Given the description of an element on the screen output the (x, y) to click on. 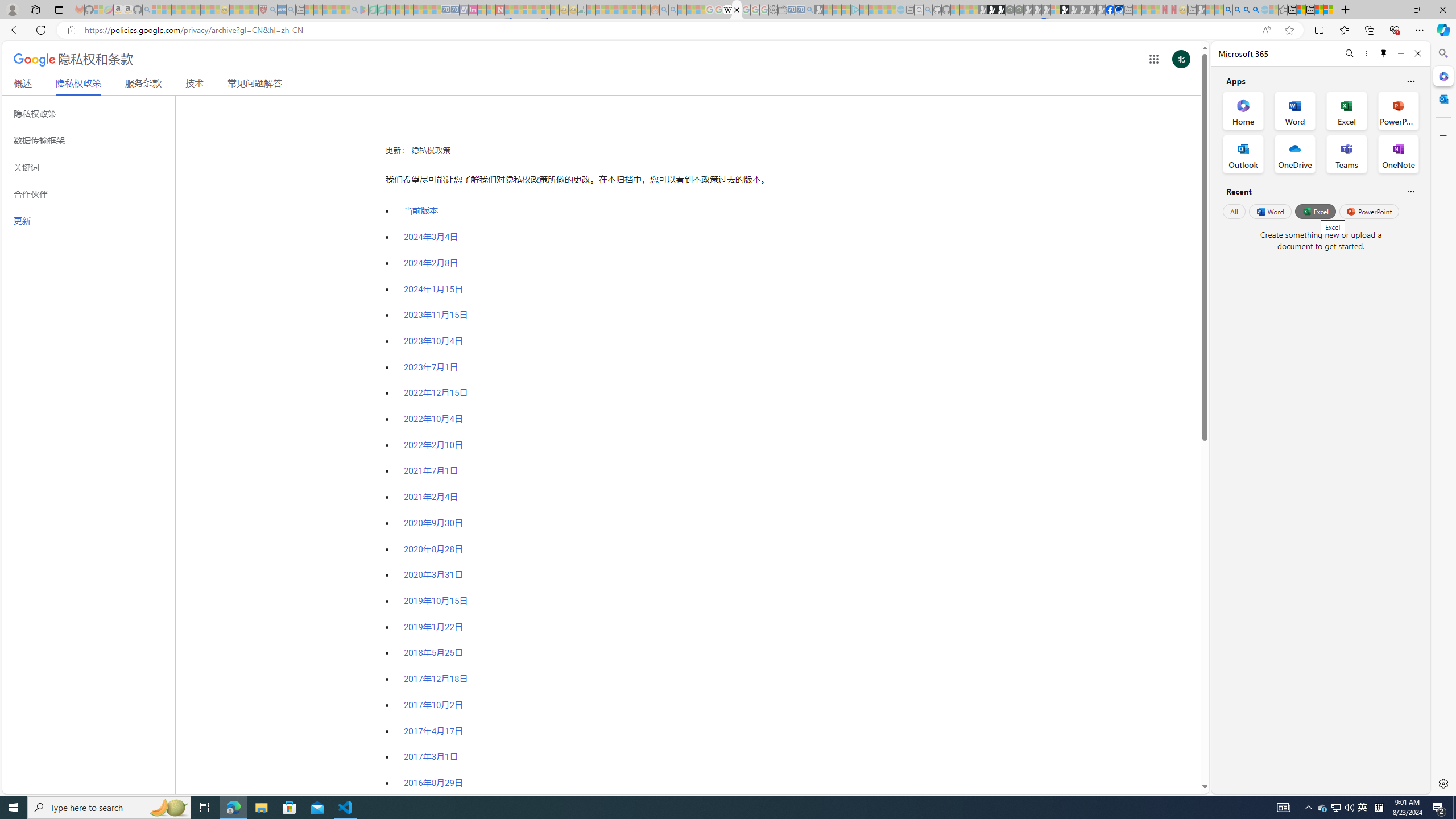
All (1233, 210)
Microsoft Start - Sleeping (882, 9)
